Given the description of an element on the screen output the (x, y) to click on. 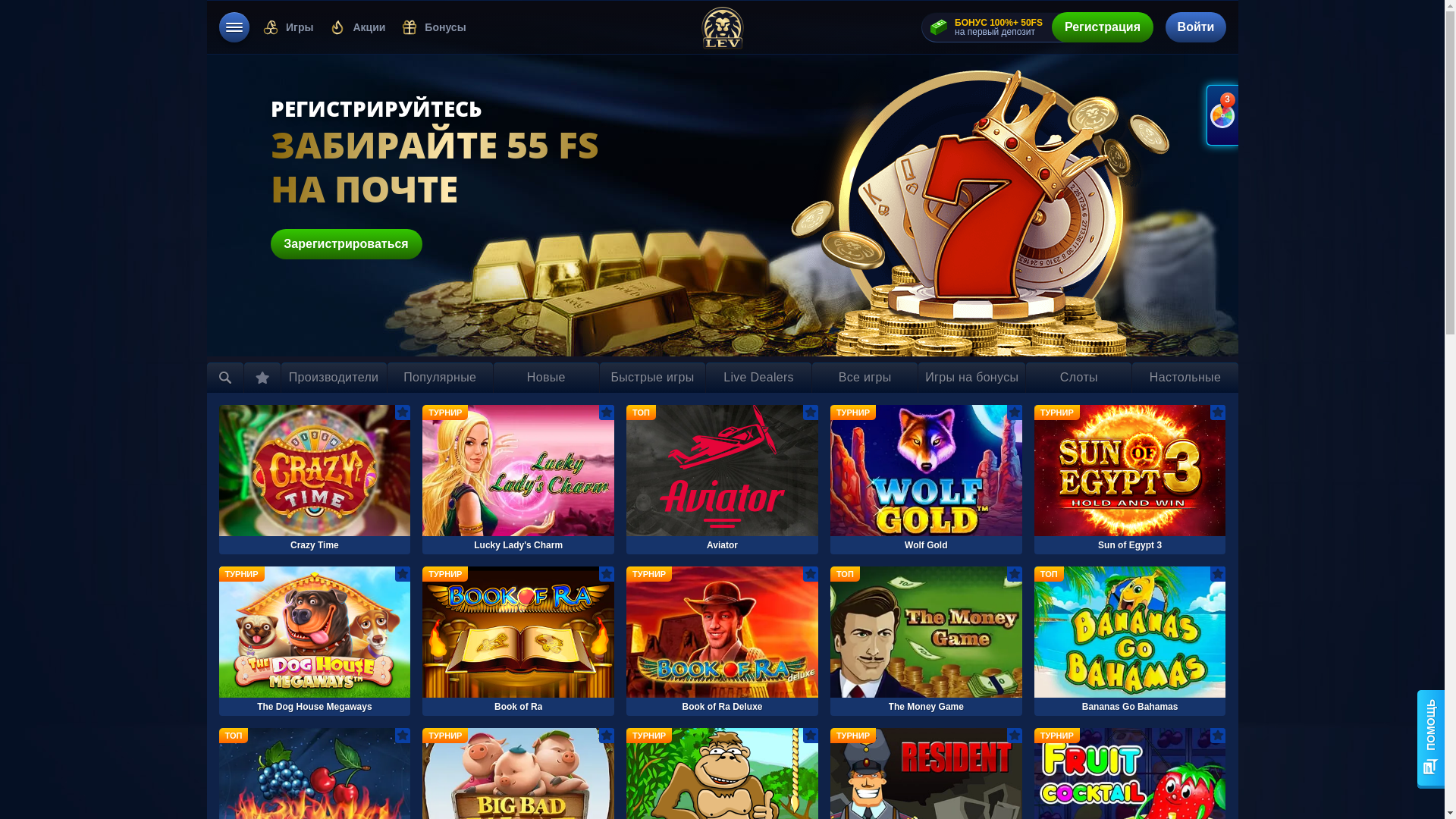
Live Dealers Element type: text (758, 377)
Crazy Time Element type: text (314, 479)
